Given the description of an element on the screen output the (x, y) to click on. 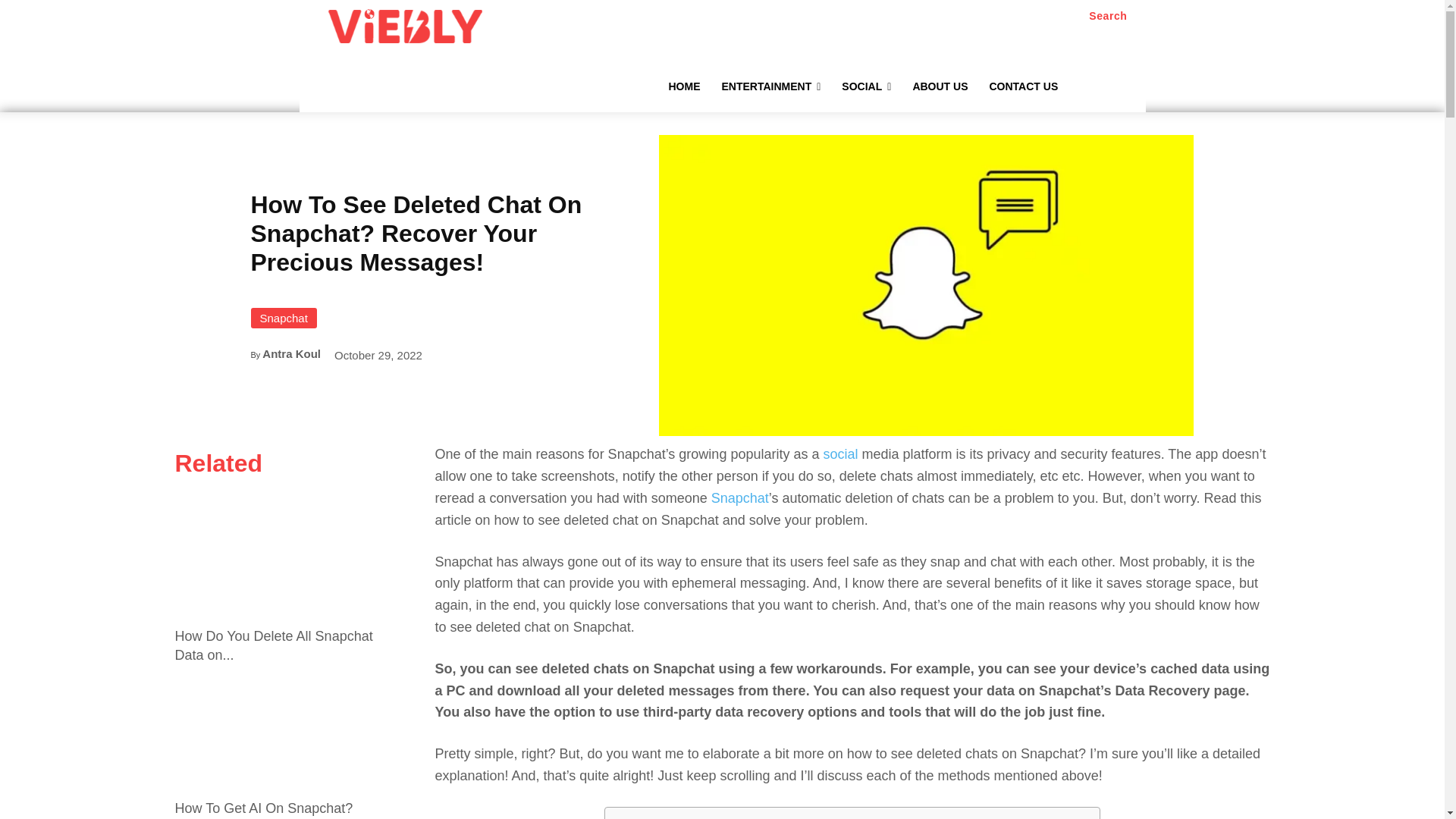
HOME (684, 85)
ENTERTAINMENT (771, 85)
Search (1107, 15)
